Given the description of an element on the screen output the (x, y) to click on. 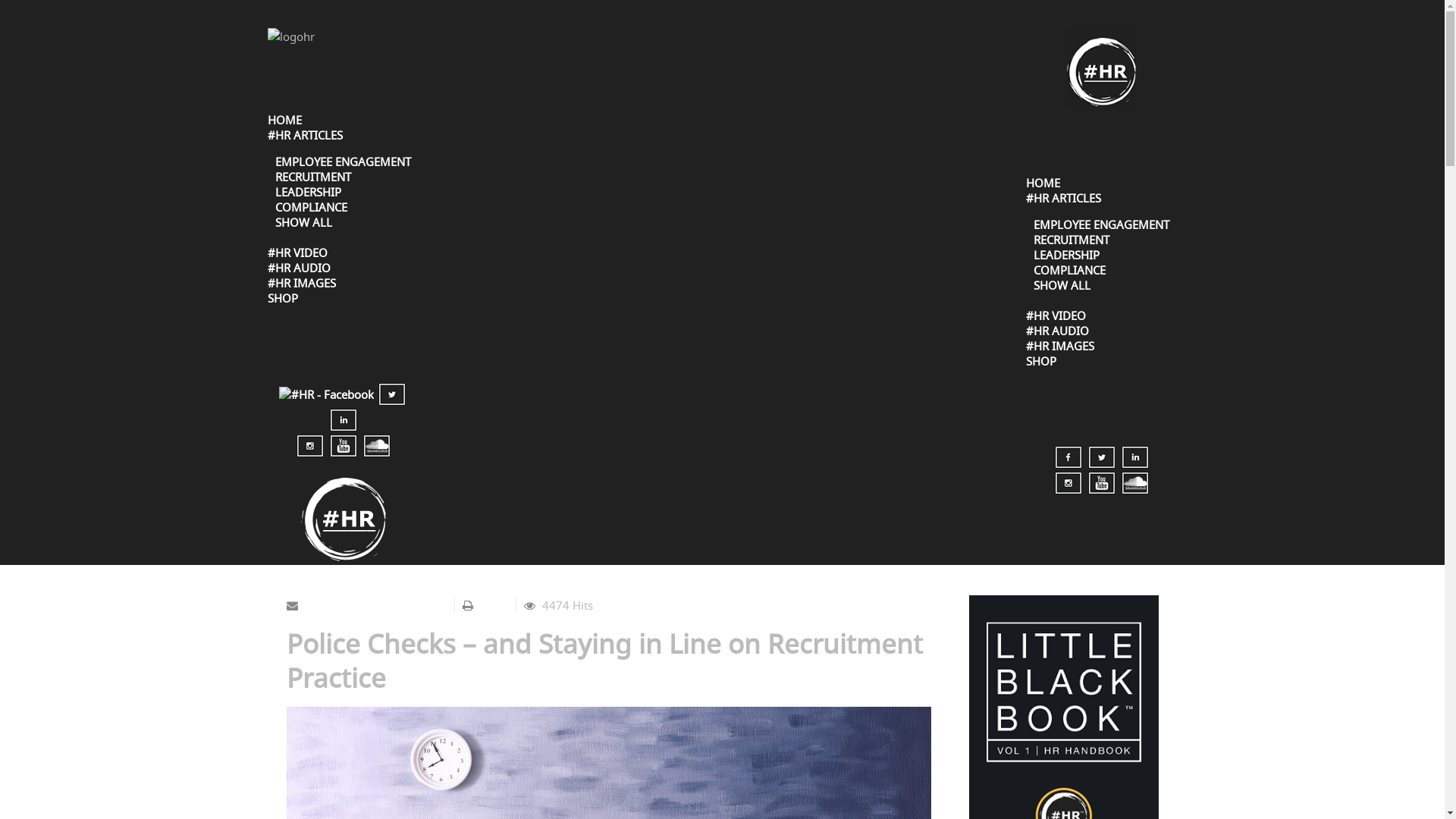
HOME Element type: text (1042, 182)
Print Element type: text (491, 604)
#HR IMAGES              Element type: text (320, 282)
LEADERSHIP Element type: text (307, 191)
#HR VIDEO Element type: text (296, 252)
SHOP Element type: text (281, 297)
EMPLOYEE ENGAGEMENT Element type: text (342, 161)
SHOP Element type: text (1040, 360)
SHOW ALL Element type: text (1060, 284)
EMPLOYEE ENGAGEMENT Element type: text (1100, 224)
#HR AUDIO              Element type: text (317, 267)
#HR AUDIO              Element type: text (1076, 330)
Subscribe to this blog post Element type: text (373, 604)
HOME Element type: text (283, 119)
RECRUITMENT Element type: text (1070, 239)
#HR IMAGES              Element type: text (1078, 345)
COMPLIANCE Element type: text (310, 206)
LEADERSHIP Element type: text (1065, 254)
#HR VIDEO Element type: text (1055, 315)
#HR ARTICLES Element type: text (304, 134)
RECRUITMENT Element type: text (312, 176)
#HR ARTICLES Element type: text (1062, 197)
SHOW ALL Element type: text (302, 221)
COMPLIANCE Element type: text (1068, 269)
